Given the description of an element on the screen output the (x, y) to click on. 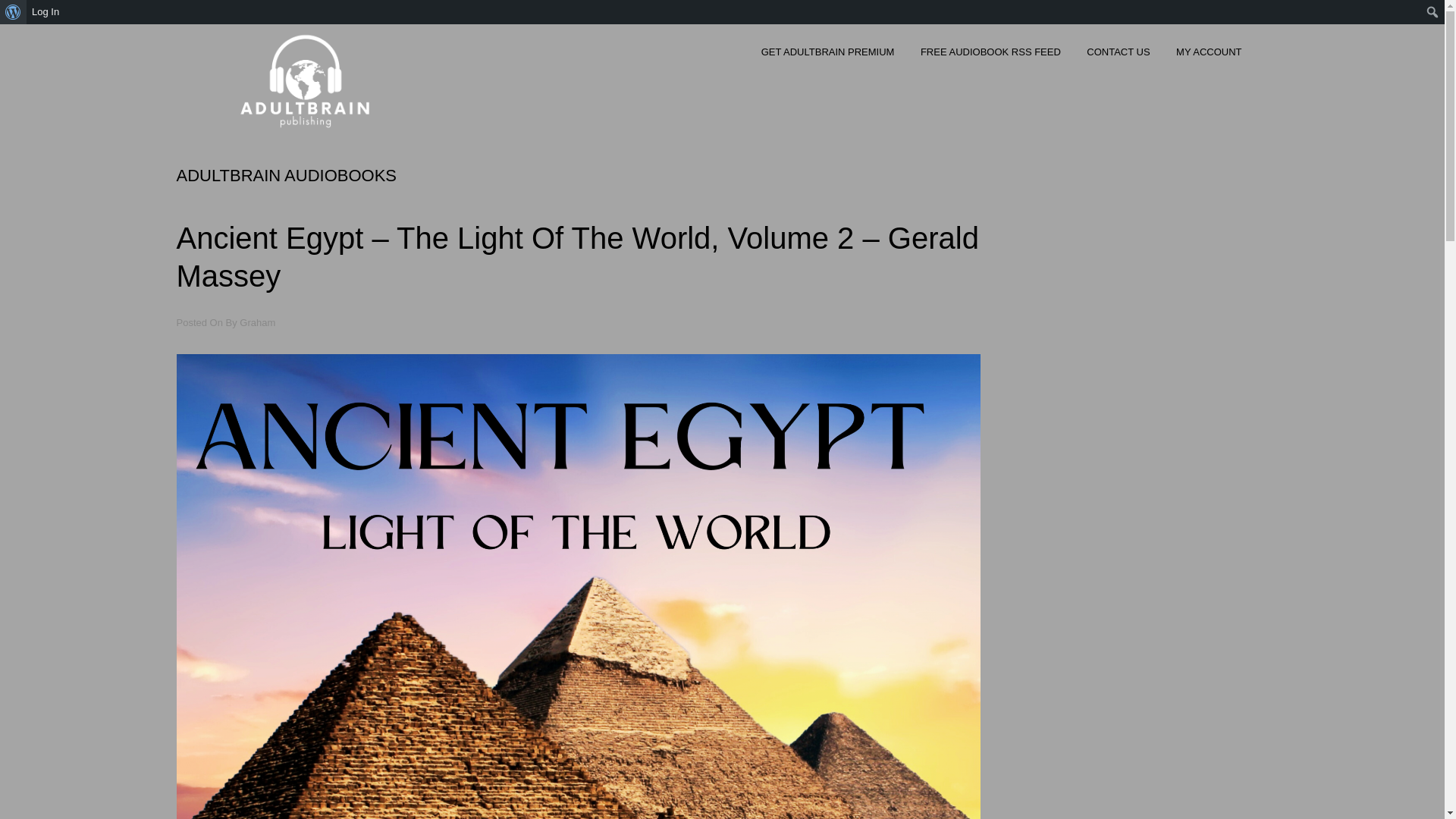
Search Element type: text (16, 12)
Graham Element type: text (257, 322)
CONTACT US Element type: text (1118, 56)
Log In Element type: text (45, 12)
ADULTBRAIN AUDIOBOOKS Element type: text (285, 175)
MY ACCOUNT Element type: text (1208, 56)
FREE AUDIOBOOK RSS FEED Element type: text (990, 56)
GET ADULTBRAIN PREMIUM Element type: text (827, 56)
